Given the description of an element on the screen output the (x, y) to click on. 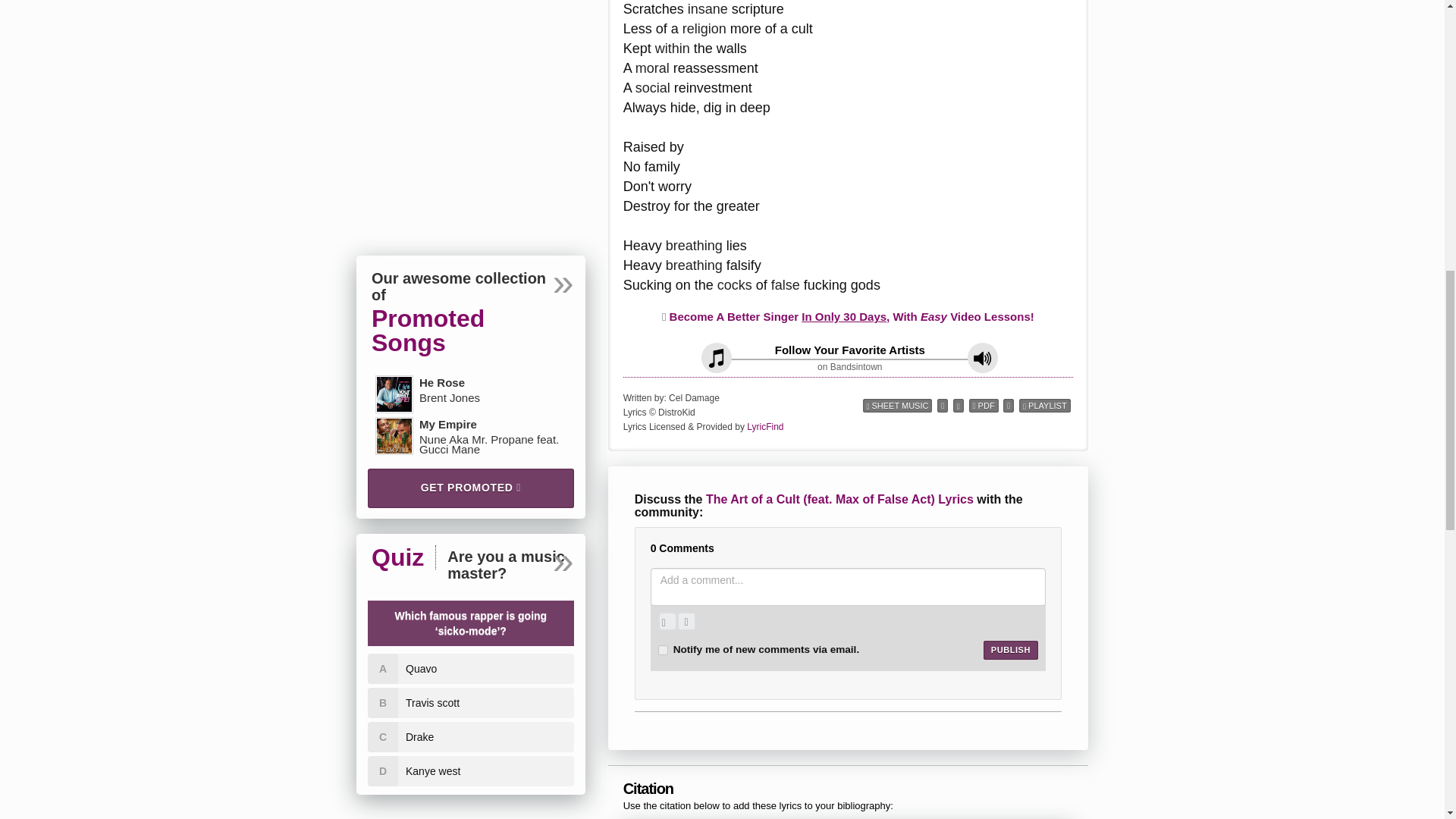
on (663, 650)
